Given the description of an element on the screen output the (x, y) to click on. 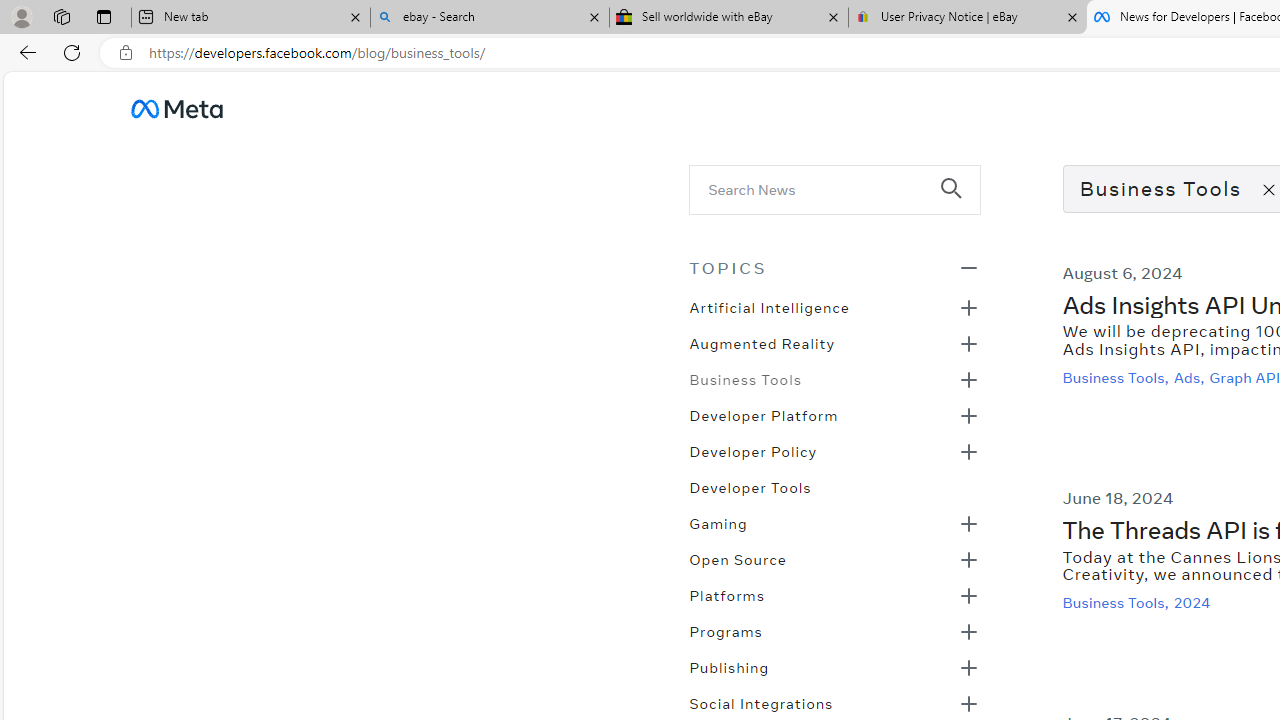
Class: _58al (820, 188)
Business Tools, (1117, 602)
